Given the description of an element on the screen output the (x, y) to click on. 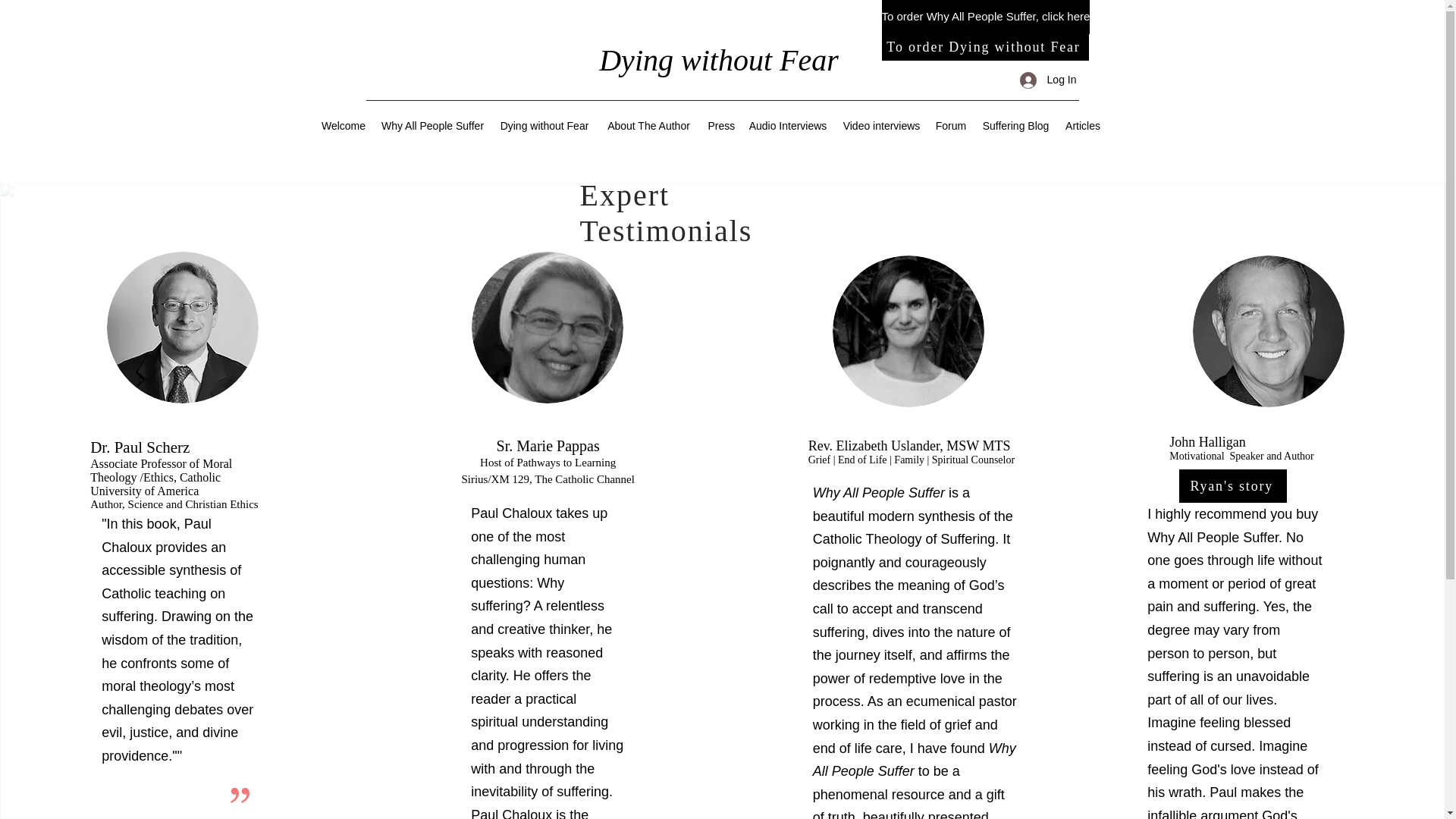
GettyImages-535587703.jpg (182, 327)
GettyImages-145680711.jpg (1267, 331)
Audio Interviews (786, 125)
Why All People Suffer (432, 125)
Articles (1082, 125)
Log In (1048, 80)
Video interviews (881, 125)
To order Why All People Suffer, click here (984, 17)
Dying without Fear (544, 125)
GettyImages-145680711.jpg (908, 331)
